Given the description of an element on the screen output the (x, y) to click on. 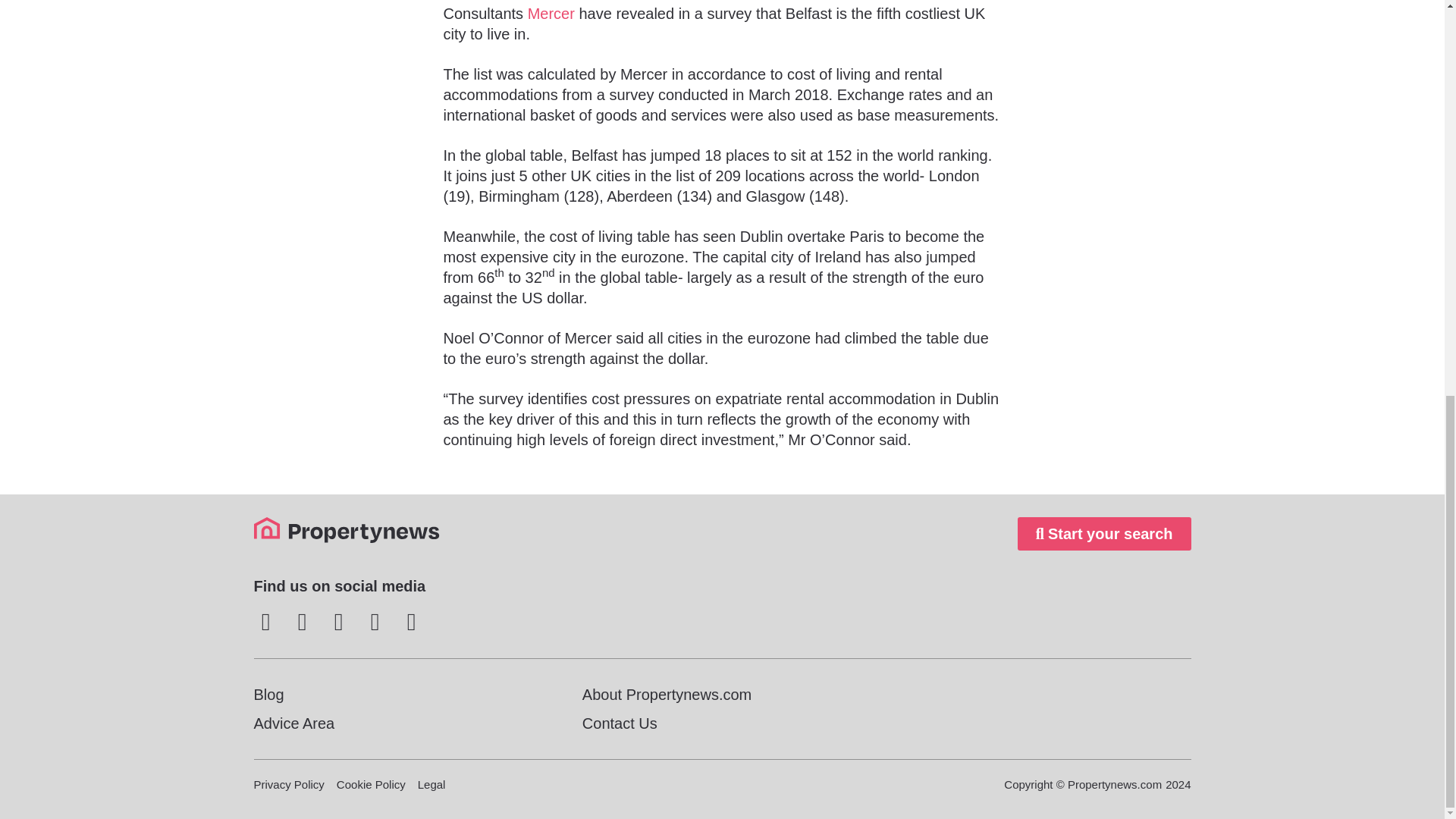
Cookie Policy (371, 784)
Legal (431, 784)
Contact Us (721, 722)
Advice Area (392, 722)
Blog (392, 694)
Mercer (551, 13)
About Propertynews.com (721, 694)
Privacy Policy (288, 784)
Start your search (1104, 533)
